Given the description of an element on the screen output the (x, y) to click on. 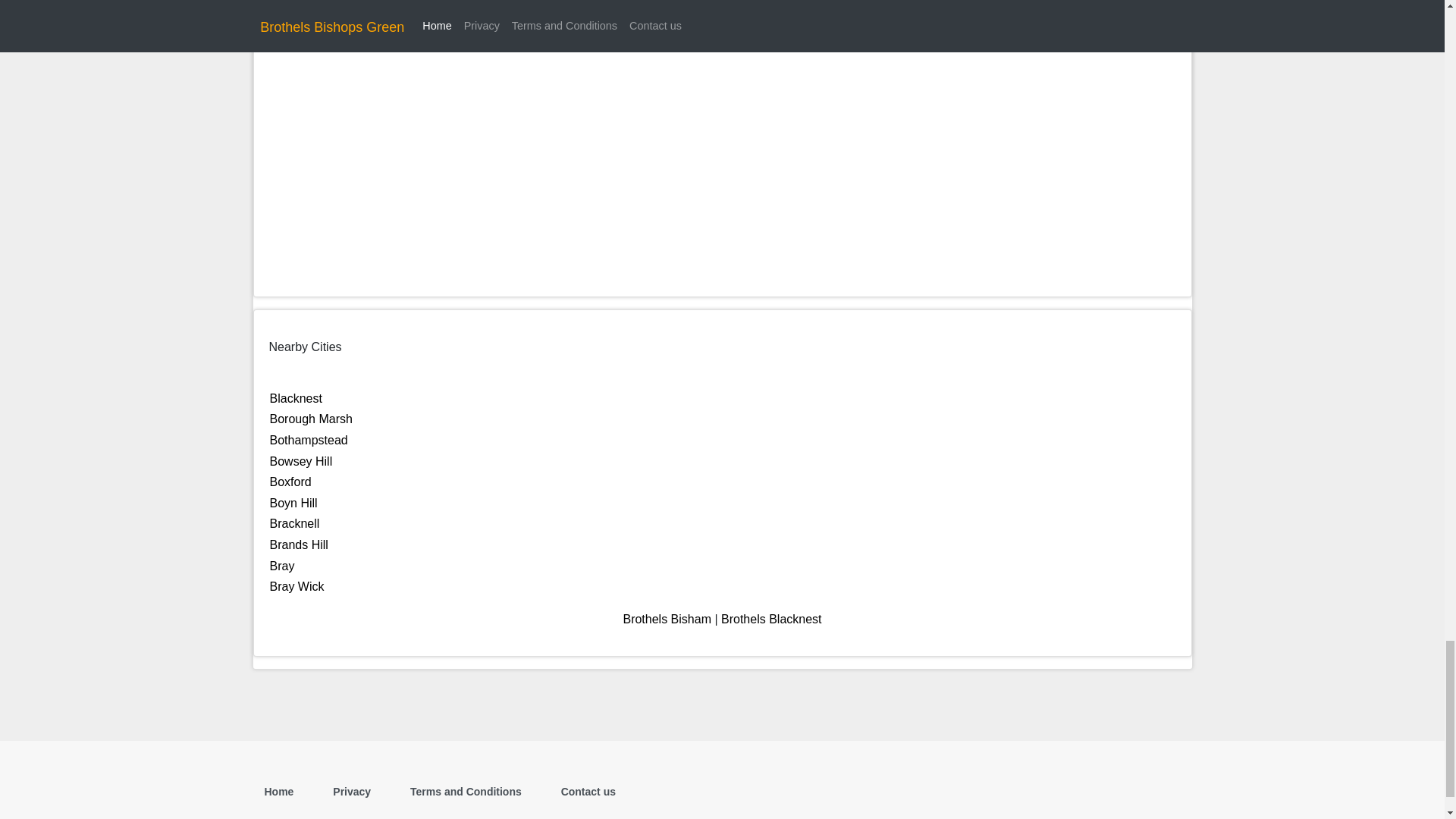
Bothampstead (308, 440)
Borough Marsh (310, 418)
Brands Hill (299, 544)
Boxford (290, 481)
Bracknell (294, 522)
Bowsey Hill (301, 461)
Bray (282, 565)
Brothels Blacknest (771, 618)
Brothels Bisham (667, 618)
Boyn Hill (293, 502)
